Given the description of an element on the screen output the (x, y) to click on. 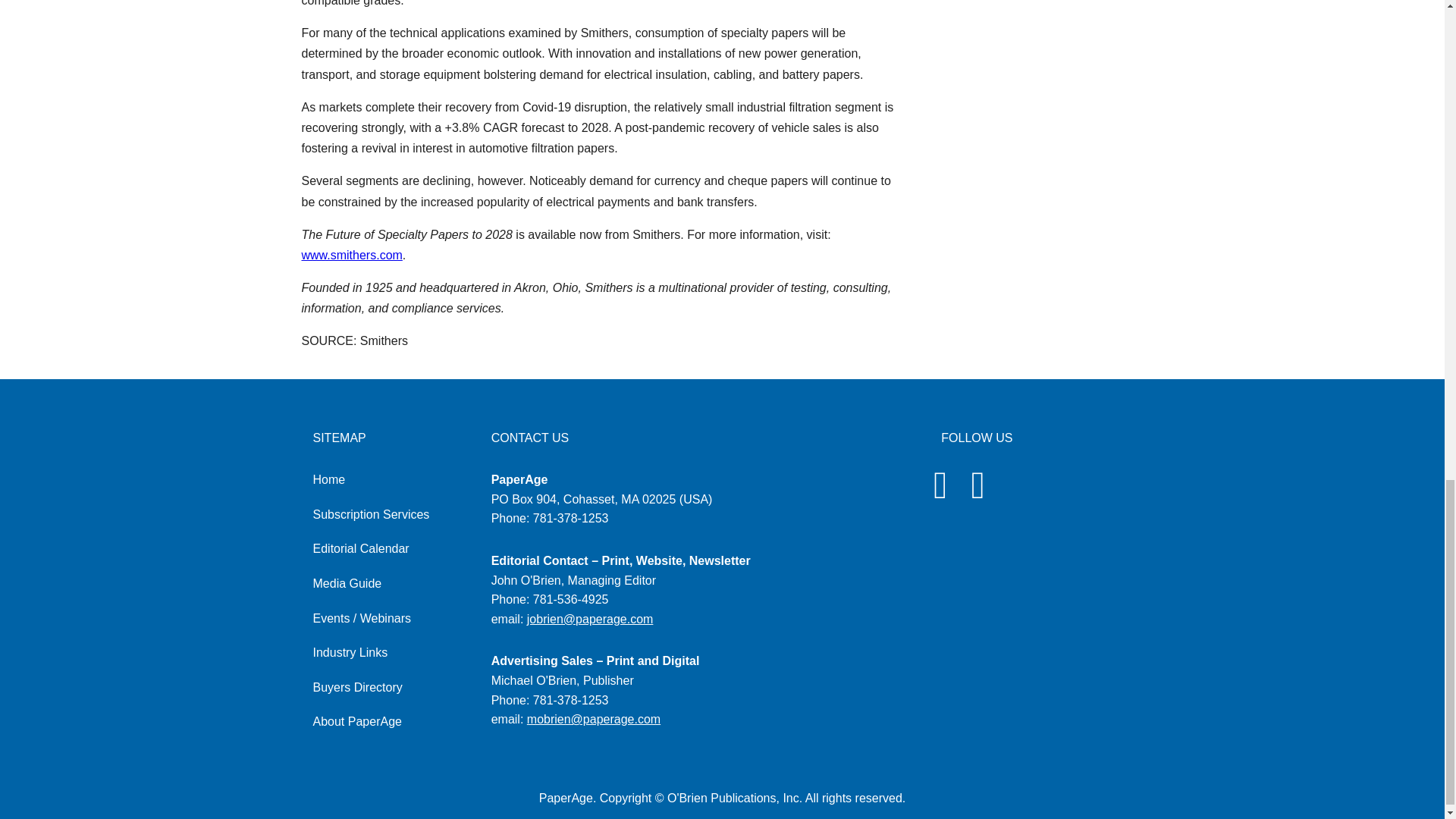
Home (329, 479)
Media Guide (347, 583)
About PaperAge (357, 721)
Subscription Services (371, 513)
Editorial Calendar (361, 548)
Industry Links (350, 652)
www.smithers.com (352, 254)
Buyers Directory (357, 686)
